Given the description of an element on the screen output the (x, y) to click on. 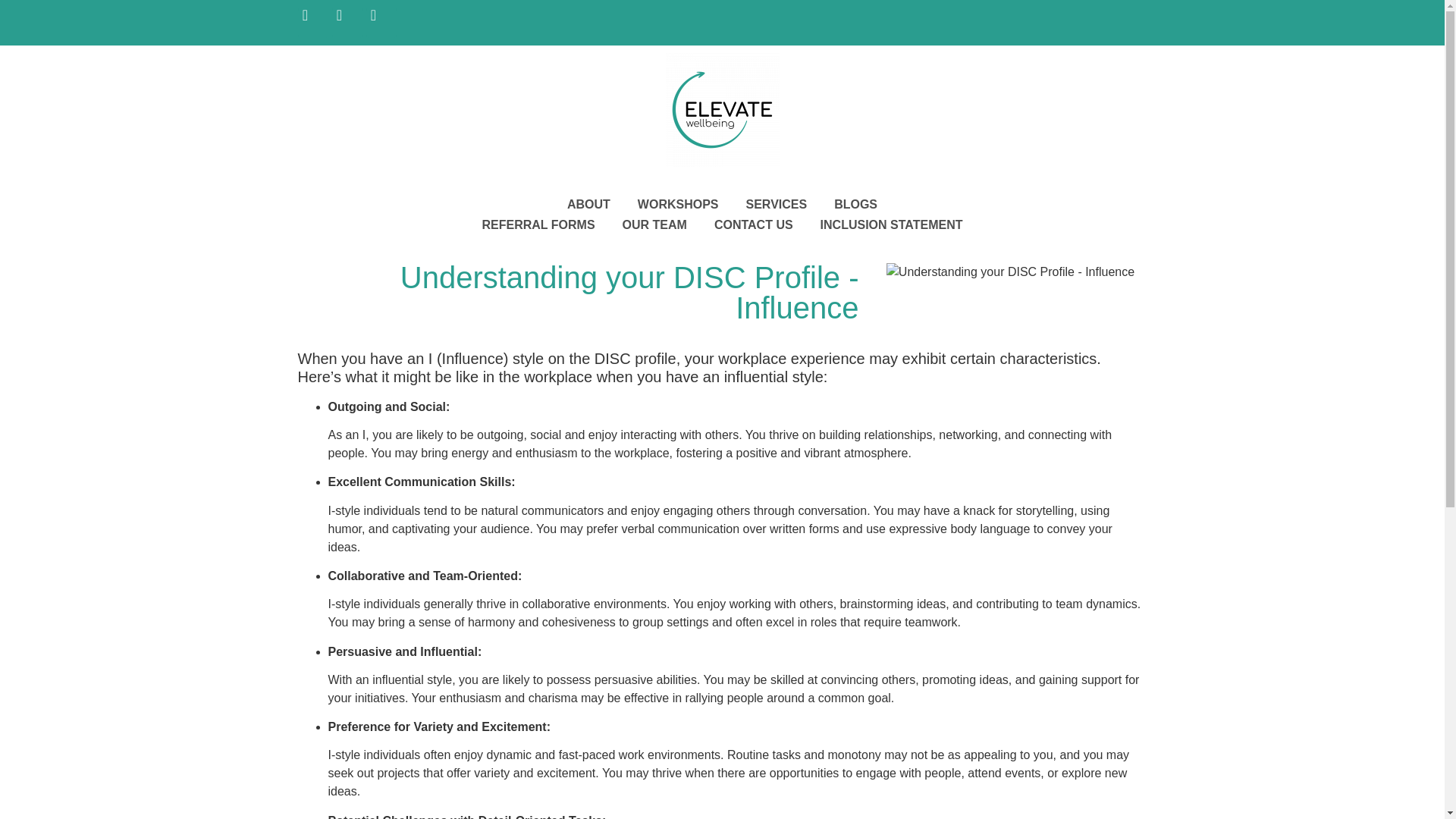
BLOGS (856, 204)
OUR TEAM (654, 224)
REFERRAL FORMS (538, 224)
CONTACT US (753, 224)
INCLUSION STATEMENT (891, 224)
WORKSHOPS (678, 204)
SERVICES (776, 204)
ABOUT (588, 204)
